Given the description of an element on the screen output the (x, y) to click on. 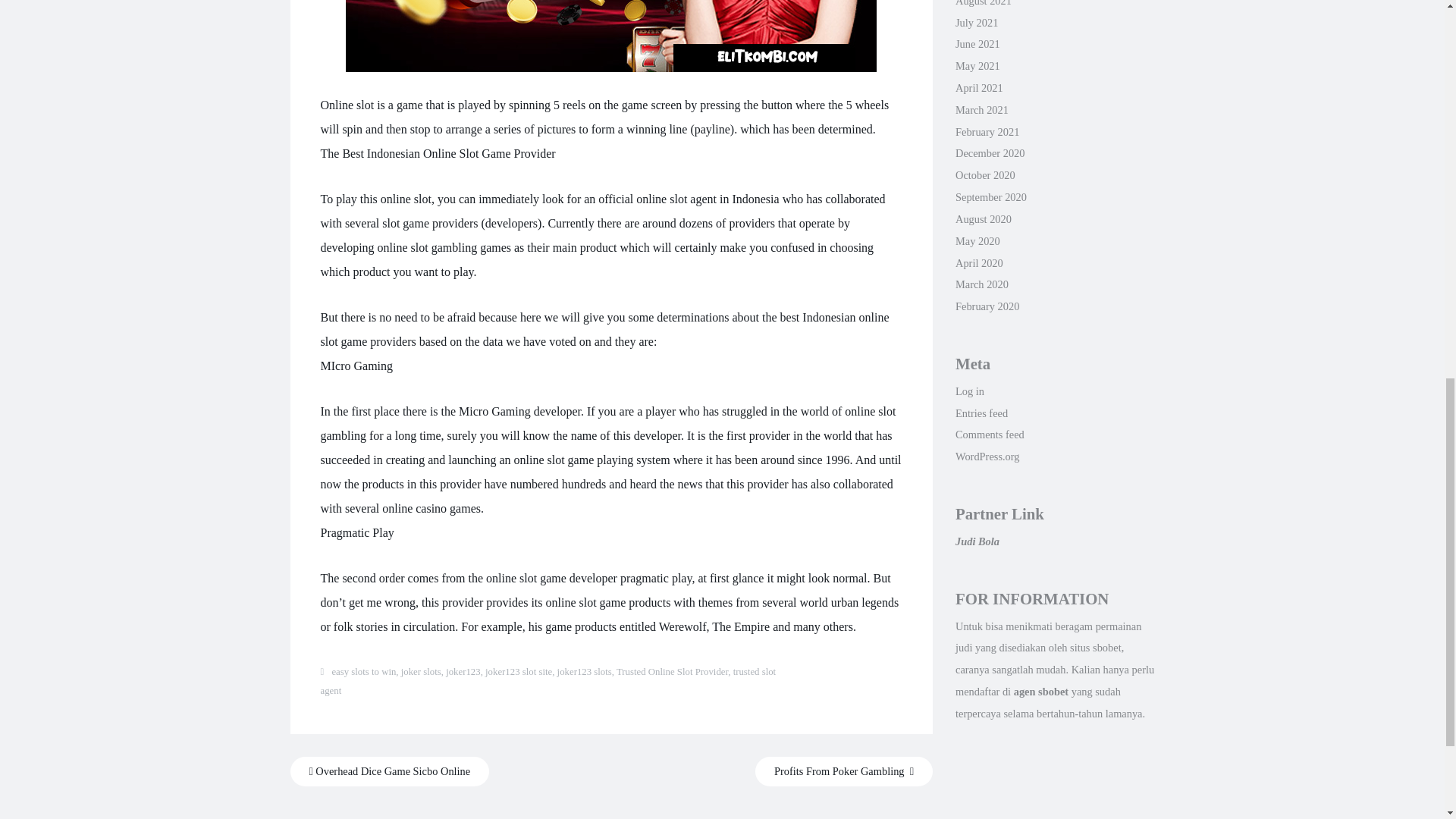
Trusted Online Slot Provider (671, 671)
easy slots to win (363, 671)
July 2021 (976, 22)
joker123 slot site (517, 671)
Profits From Poker Gambling  (844, 771)
trusted slot agent (548, 681)
joker123 slots (584, 671)
joker slots (421, 671)
May 2021 (977, 65)
April 2021 (979, 87)
June 2021 (977, 43)
Overhead Dice Game Sicbo Online (389, 771)
joker123 (462, 671)
August 2021 (983, 3)
